Given the description of an element on the screen output the (x, y) to click on. 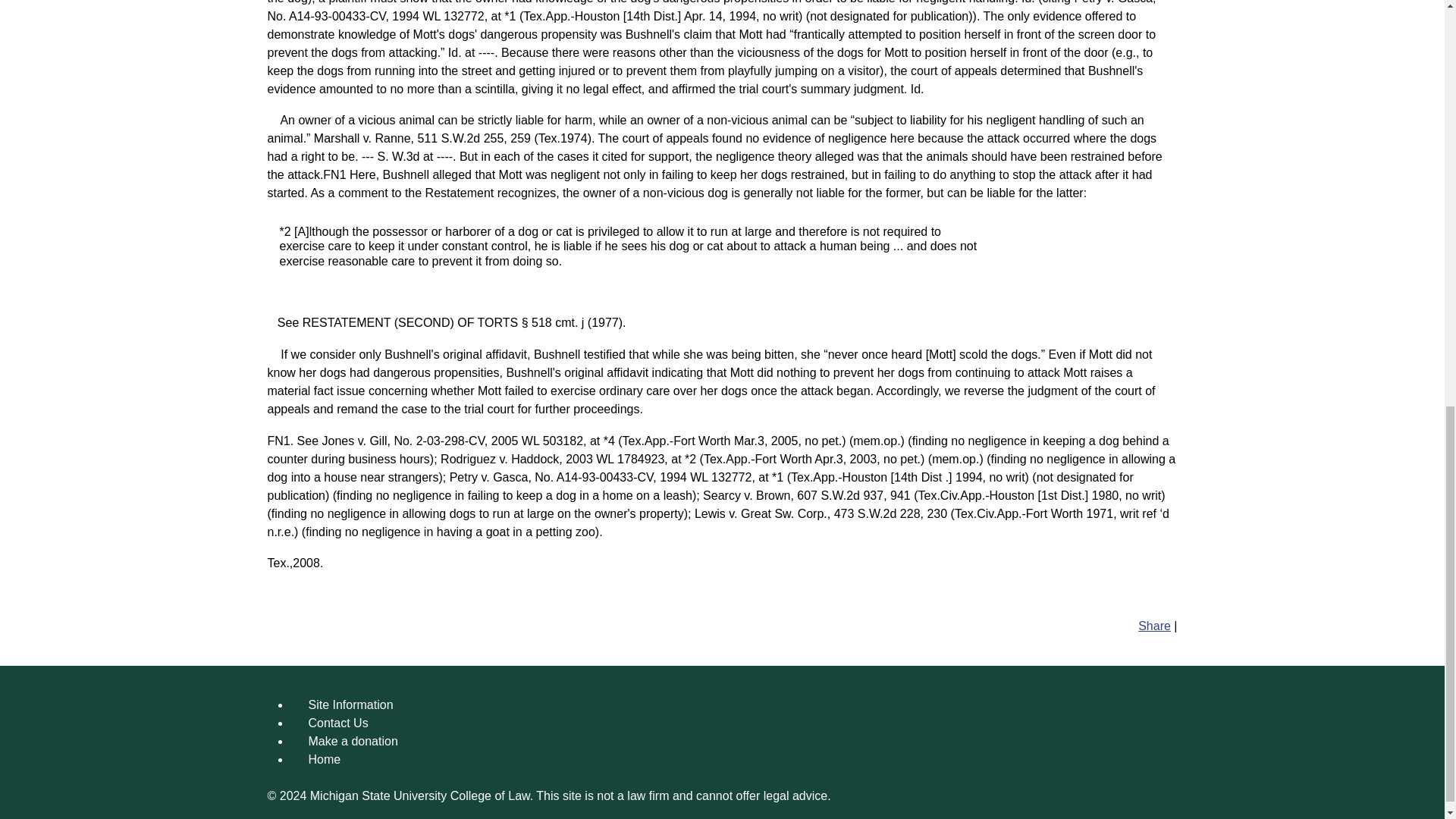
Share (1154, 625)
Make a donation (351, 740)
Home (323, 758)
Site Information (349, 704)
Contact Us (337, 722)
College of Law (489, 795)
